Given the description of an element on the screen output the (x, y) to click on. 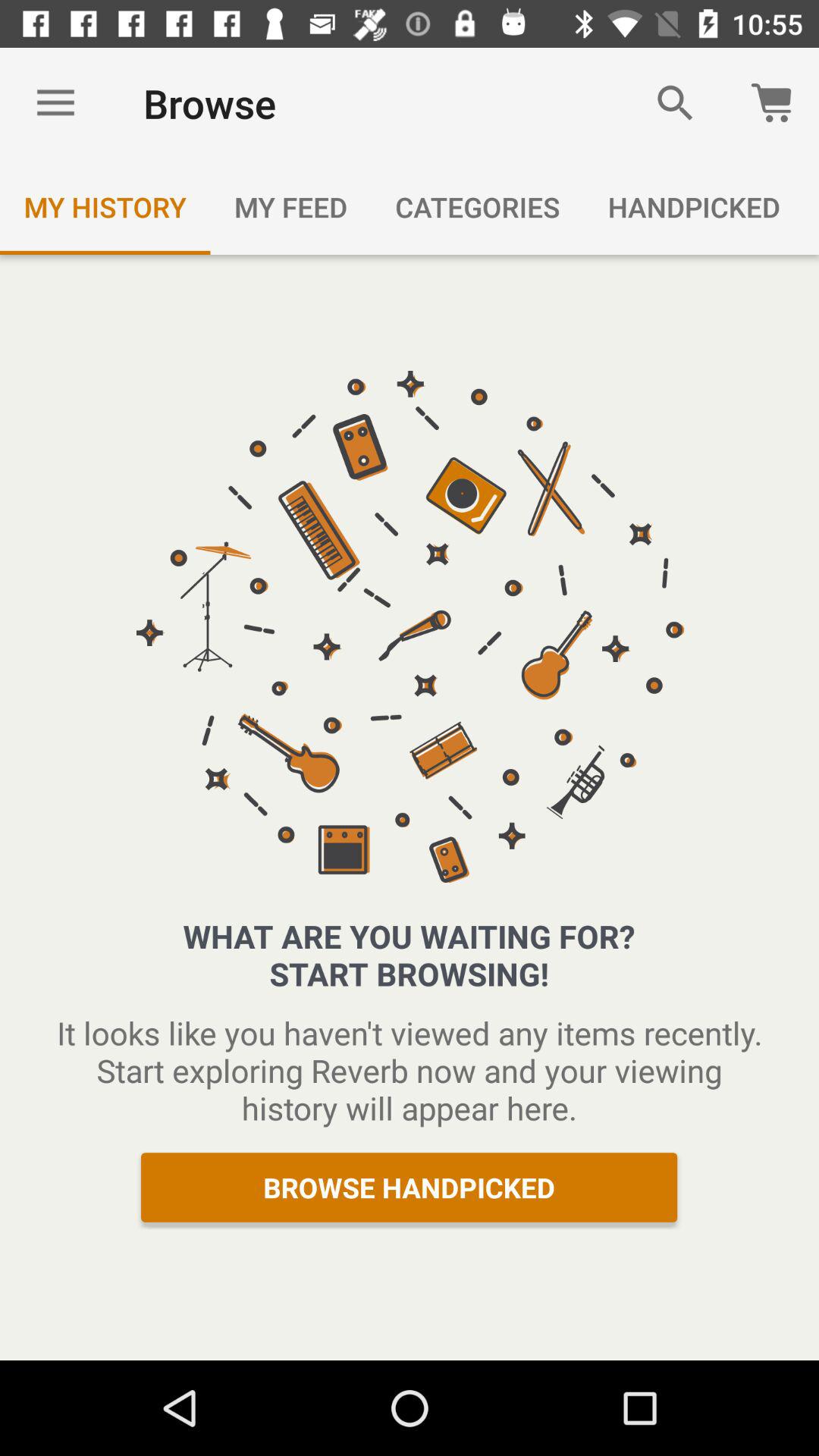
tap the item to the left of the browse item (55, 103)
